Given the description of an element on the screen output the (x, y) to click on. 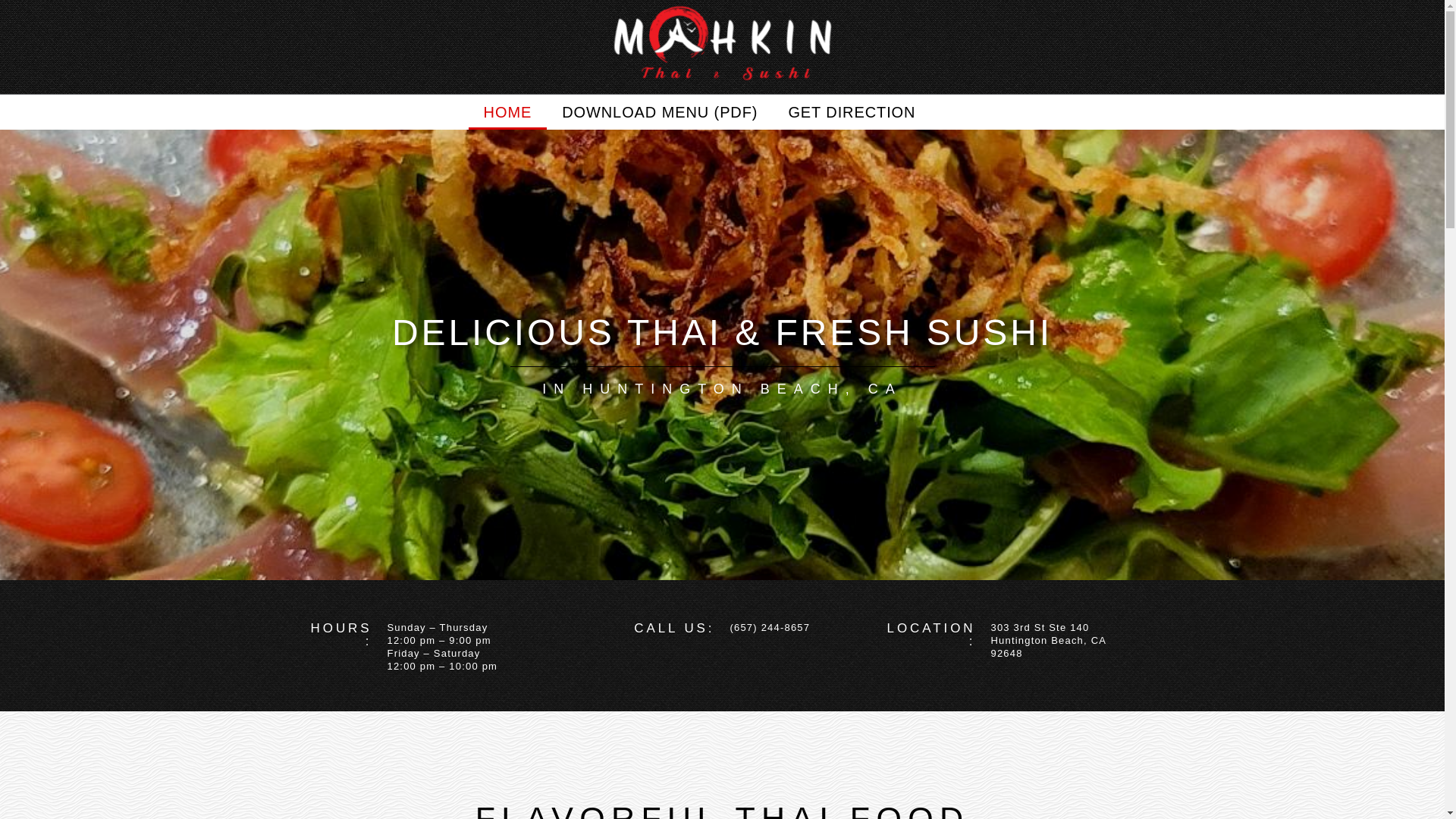
GET DIRECTION (851, 112)
HOME (507, 112)
